Given the description of an element on the screen output the (x, y) to click on. 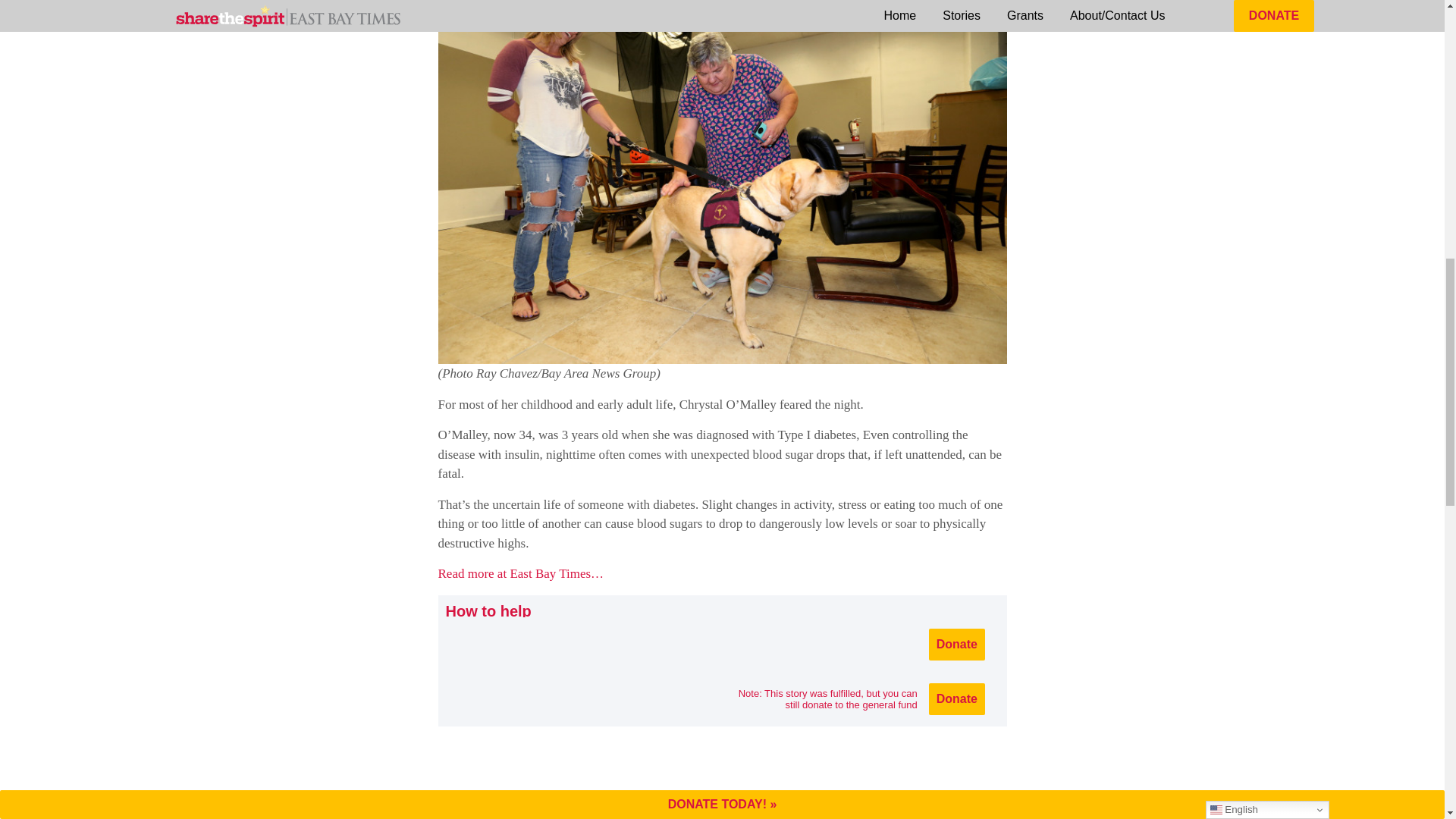
Donate (956, 644)
Donate (956, 698)
